Given the description of an element on the screen output the (x, y) to click on. 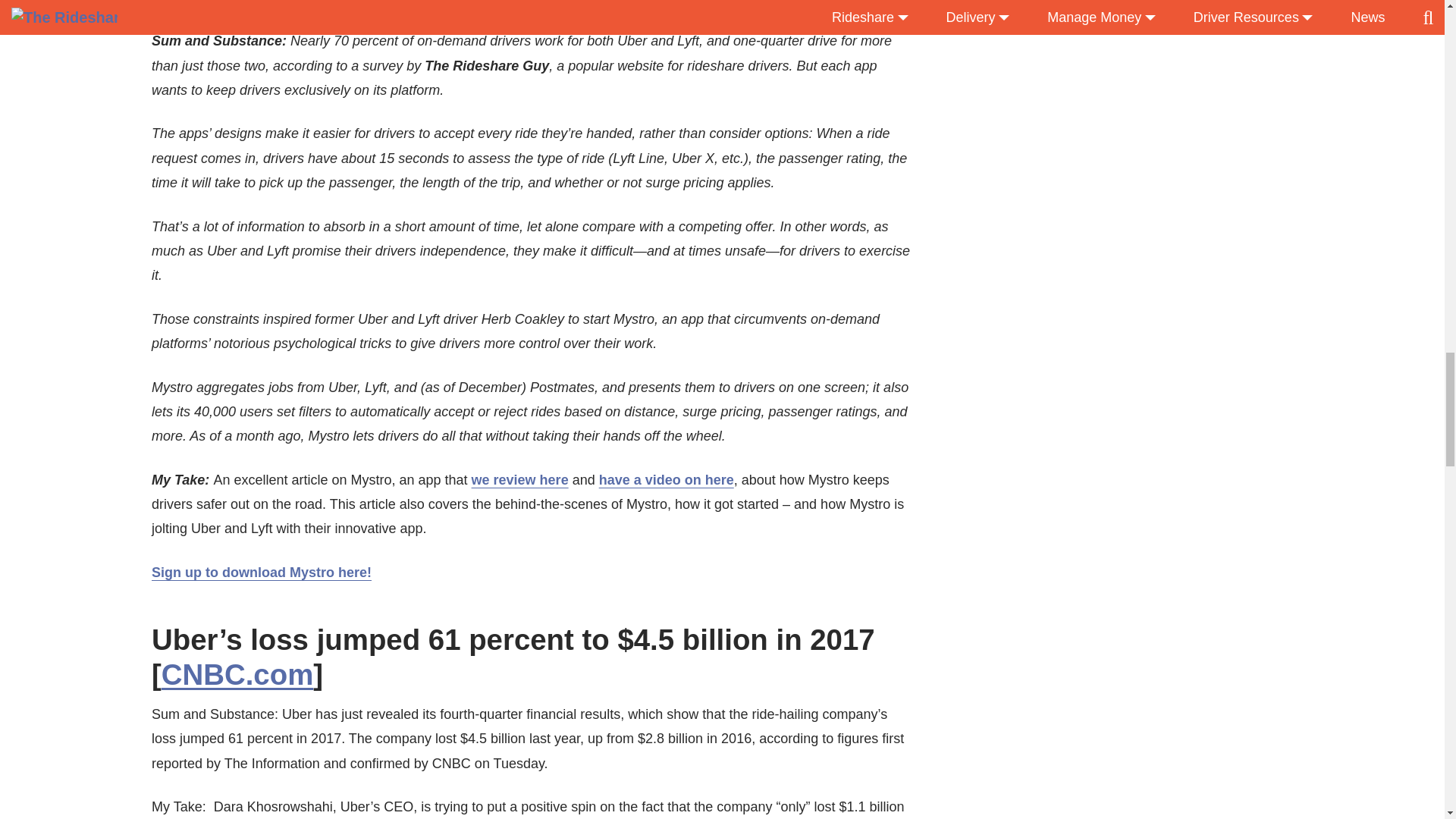
have a video on here (665, 479)
Sign up to download Mystro here! (261, 572)
we review here (520, 479)
WIRED (287, 9)
CNBC.com (237, 674)
